Given the description of an element on the screen output the (x, y) to click on. 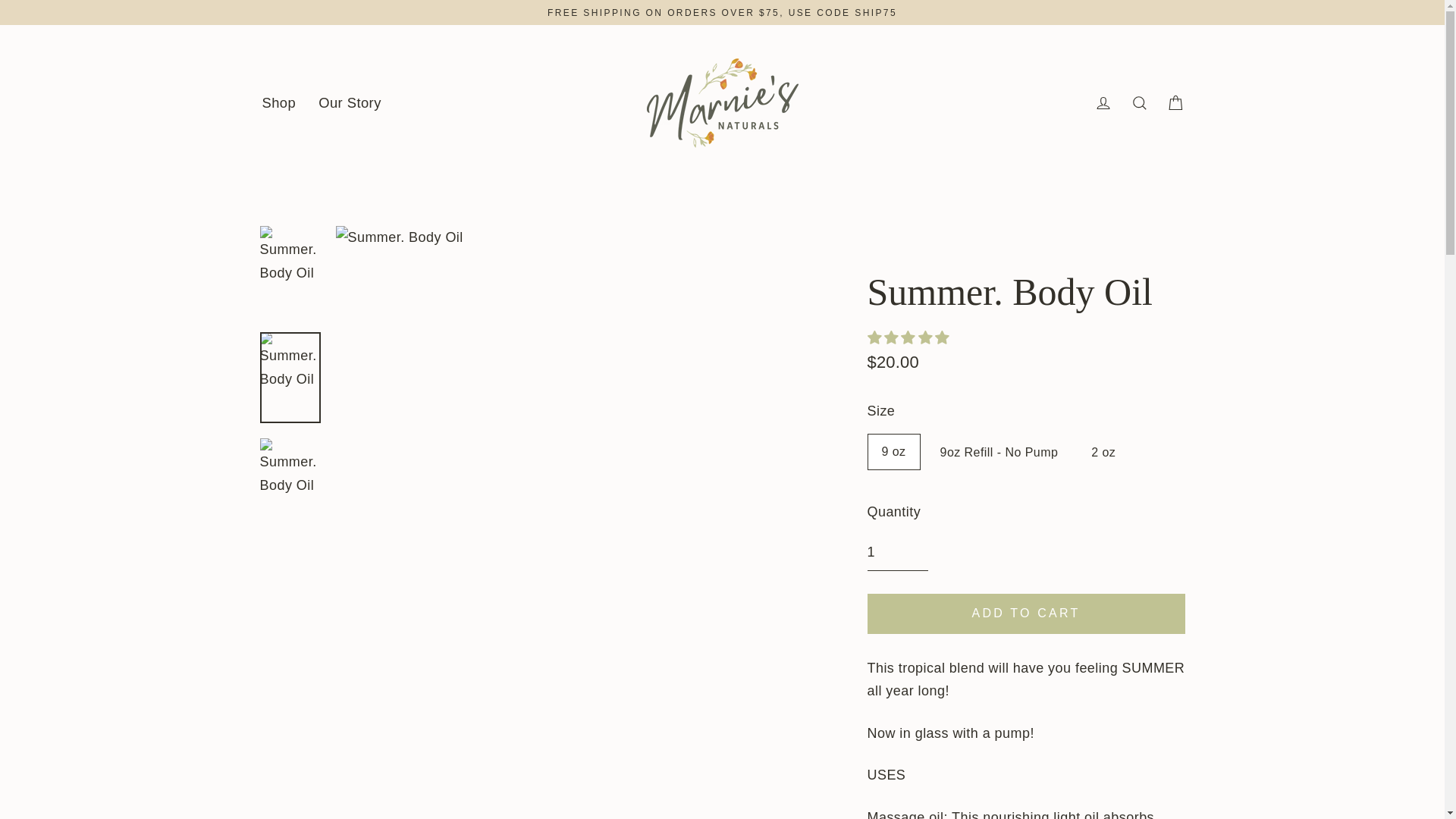
Our Story (350, 102)
ADD TO CART (1026, 613)
Cart (1175, 102)
Shop (278, 102)
Log in (1102, 102)
Search (1139, 102)
